Given the description of an element on the screen output the (x, y) to click on. 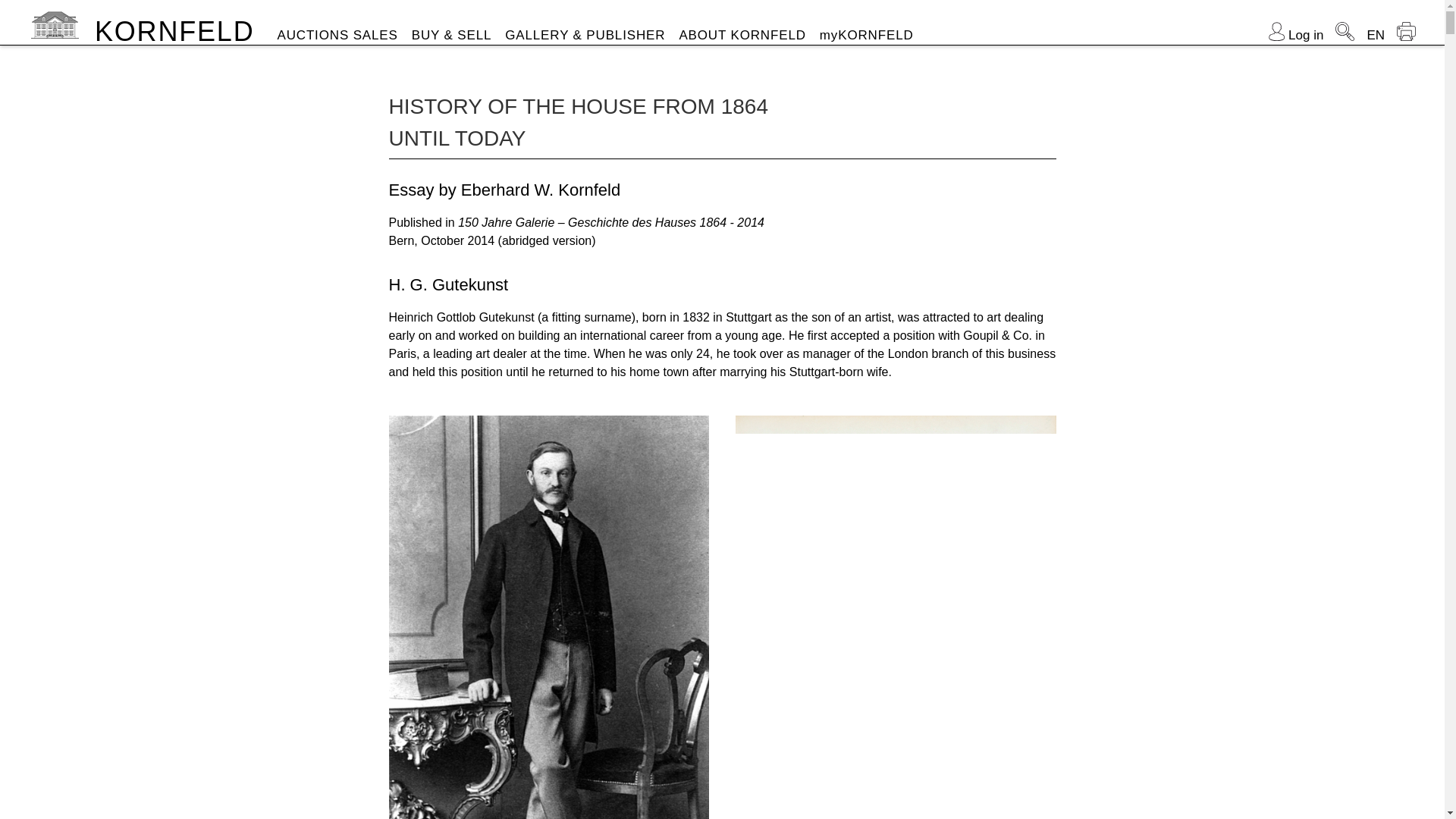
ABOUT KORNFELD (741, 34)
Log in (1295, 34)
Search in the catalogue (1344, 31)
AUCTIONS SALES (336, 34)
KORNFELD (173, 30)
myKORNFELD (866, 34)
